Given the description of an element on the screen output the (x, y) to click on. 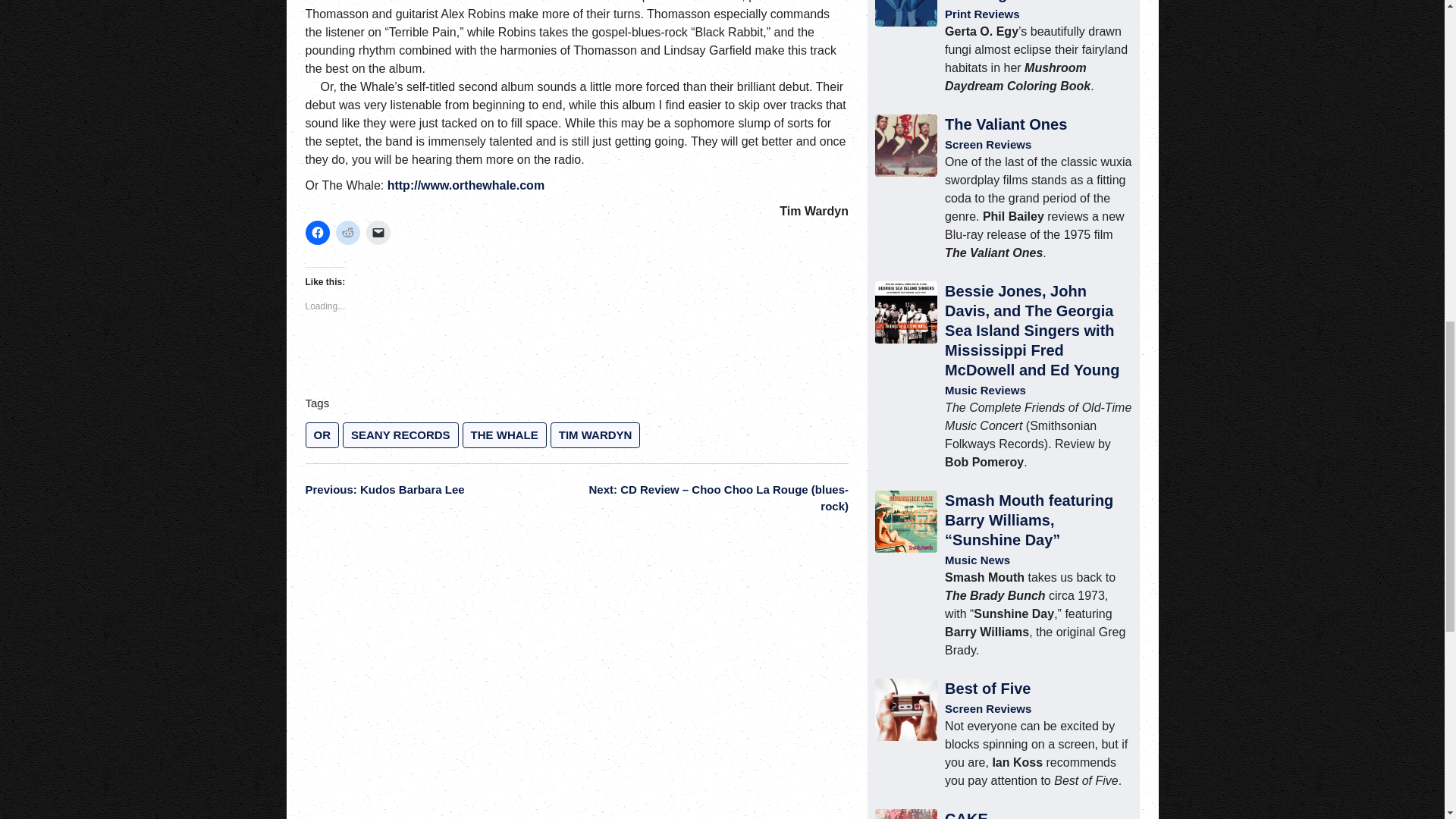
Like or Reblog (575, 359)
Click to share on Reddit (346, 232)
Click to email a link to a friend (377, 232)
Click to share on Facebook (316, 232)
